Given the description of an element on the screen output the (x, y) to click on. 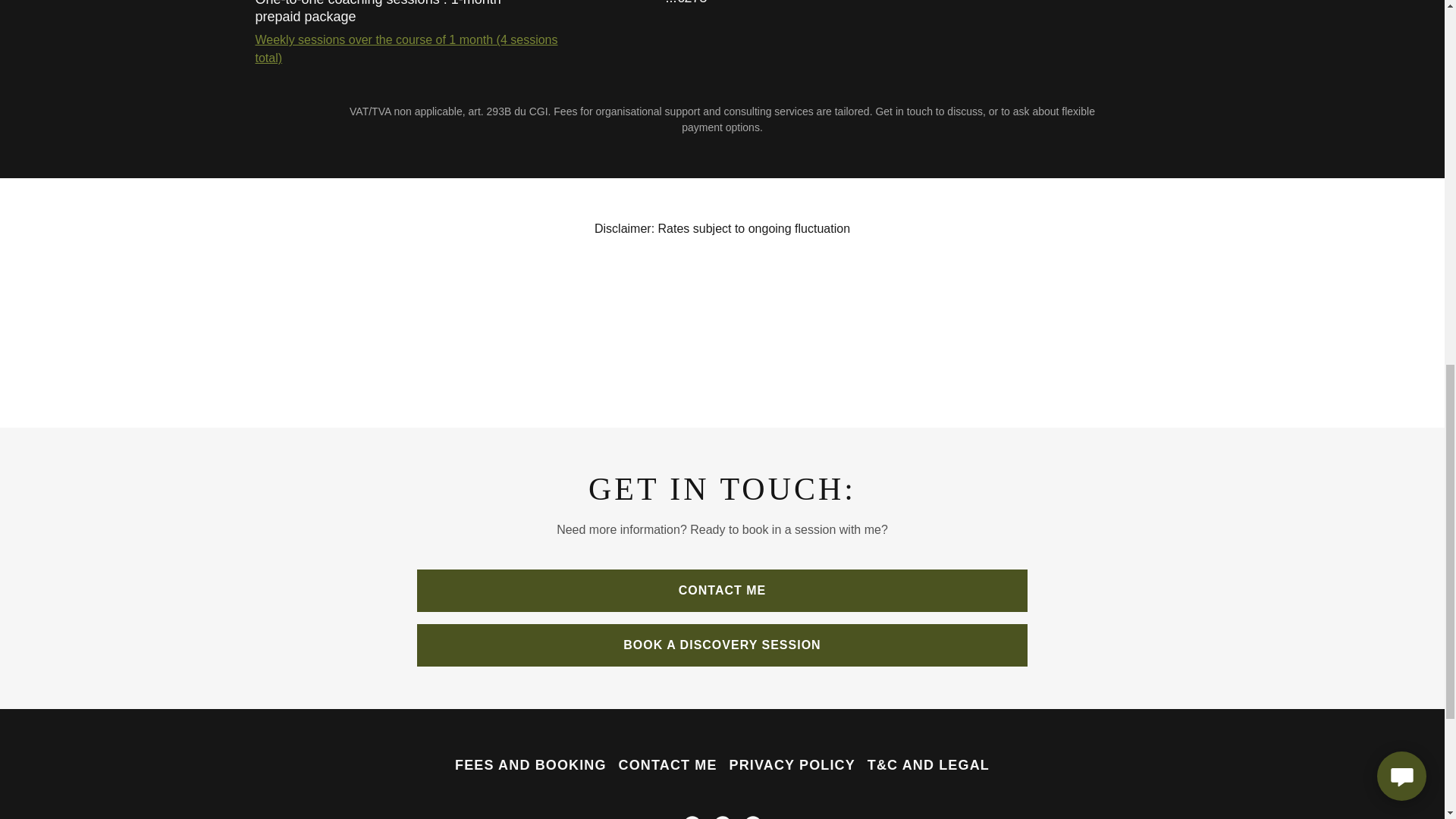
CONTACT ME (721, 590)
FEES AND BOOKING (530, 765)
CONTACT ME (667, 765)
BOOK A DISCOVERY SESSION (721, 645)
